Given the description of an element on the screen output the (x, y) to click on. 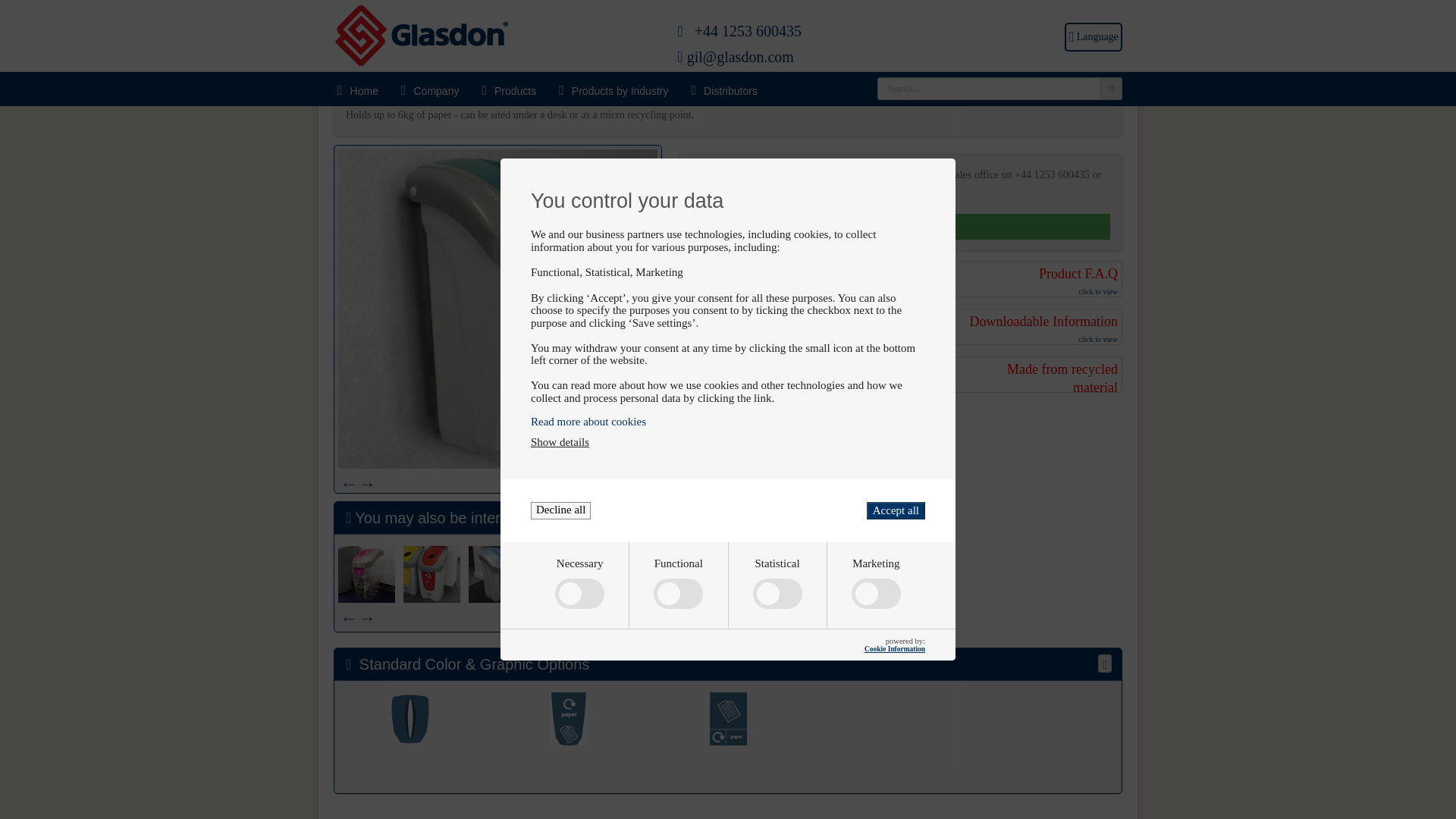
Accept all (895, 404)
Read more about cookies (727, 315)
Decline all (561, 404)
Show details (560, 336)
Cookie Information (894, 542)
